Given the description of an element on the screen output the (x, y) to click on. 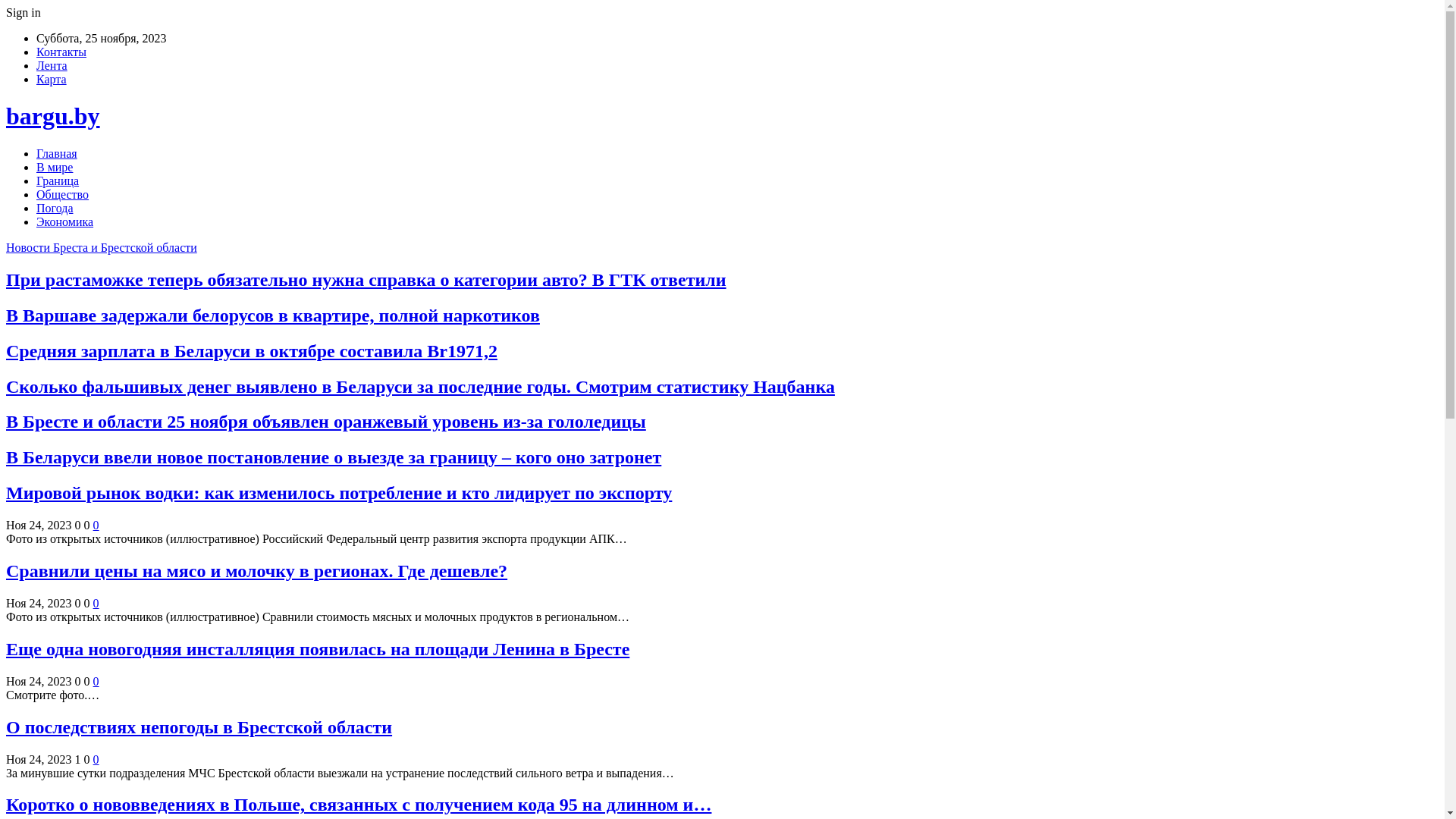
0 Element type: text (96, 524)
Sign in Element type: text (23, 12)
0 Element type: text (96, 602)
0 Element type: text (96, 680)
bargu.by Element type: text (53, 115)
0 Element type: text (96, 759)
